Given the description of an element on the screen output the (x, y) to click on. 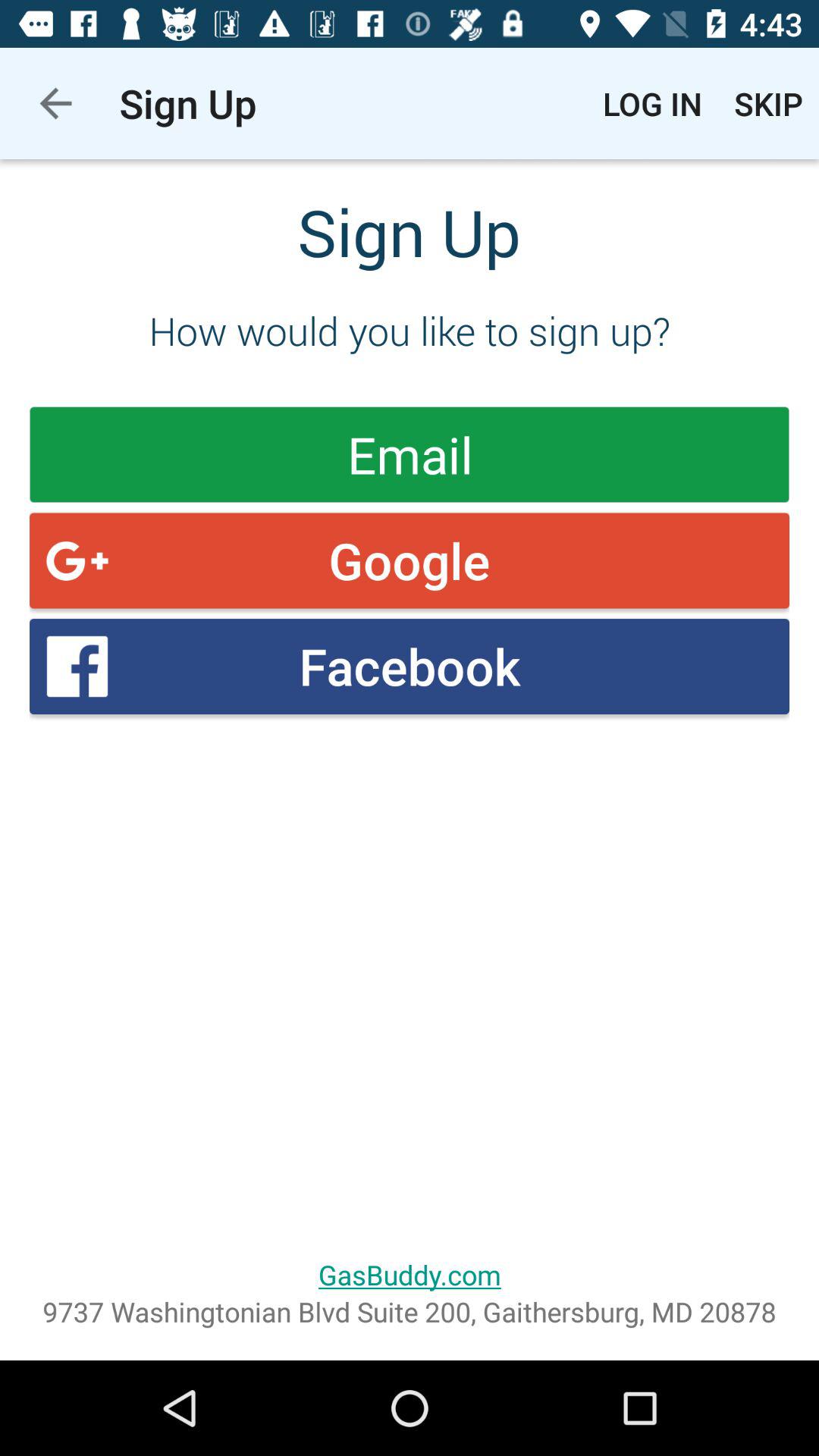
tap the icon below the email item (409, 560)
